Given the description of an element on the screen output the (x, y) to click on. 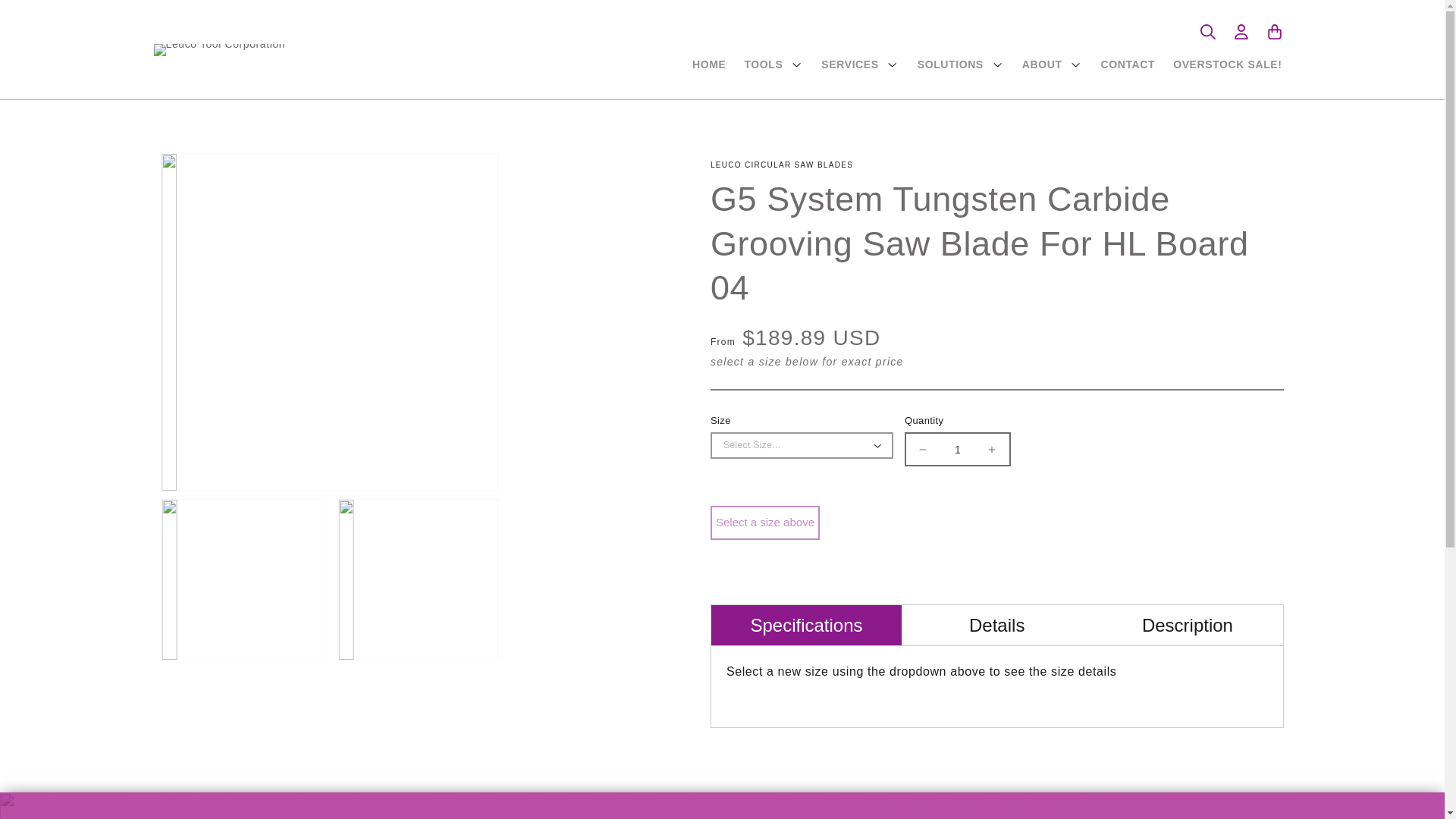
1 (957, 449)
Skip to content (45, 16)
